Given the description of an element on the screen output the (x, y) to click on. 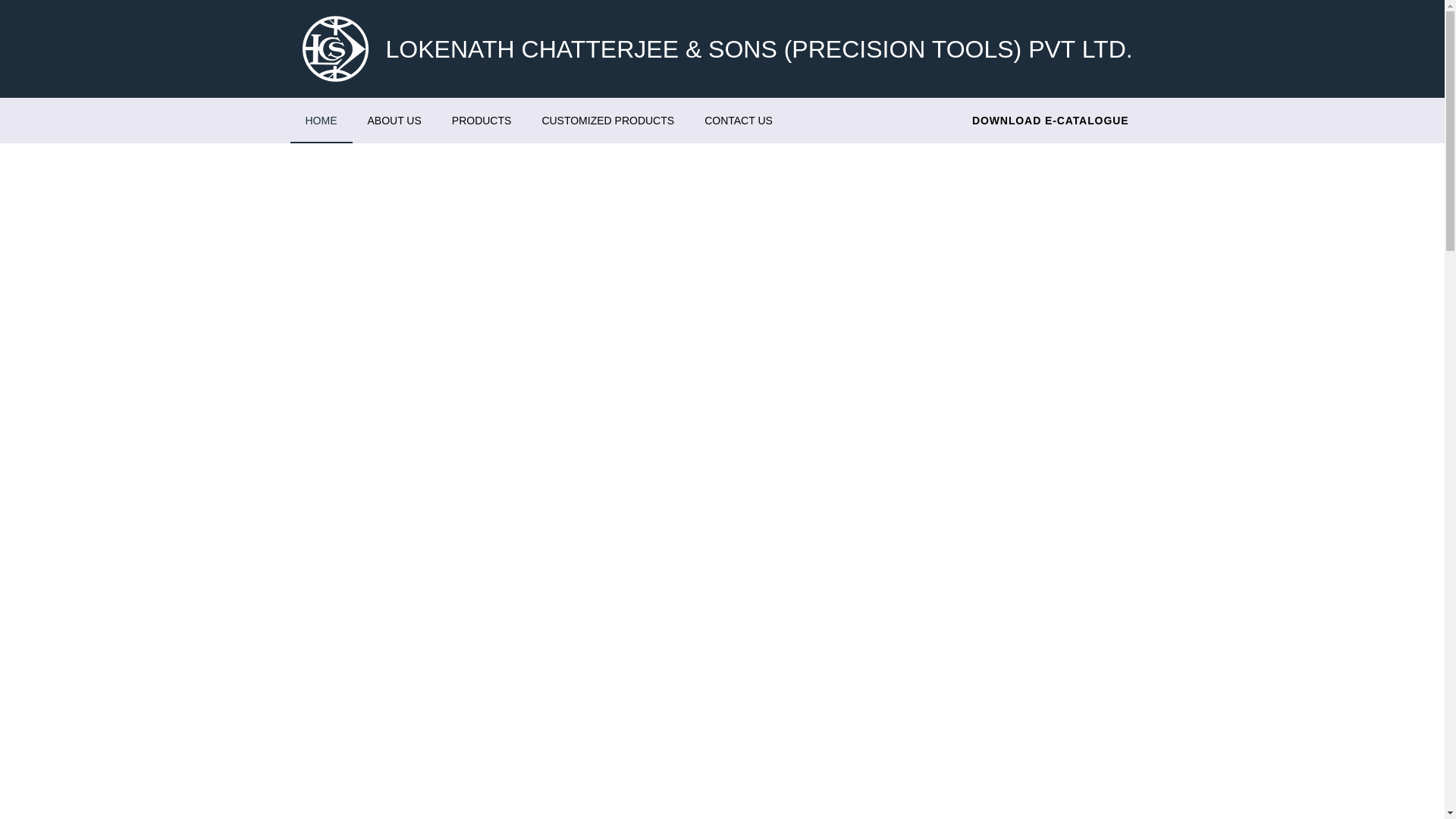
PRODUCTS (481, 120)
DOWNLOAD E-CATALOGUE (1050, 120)
CONTACT US (737, 120)
HOME (320, 120)
CUSTOMIZED PRODUCTS (606, 120)
ABOUT US (393, 120)
